Given the description of an element on the screen output the (x, y) to click on. 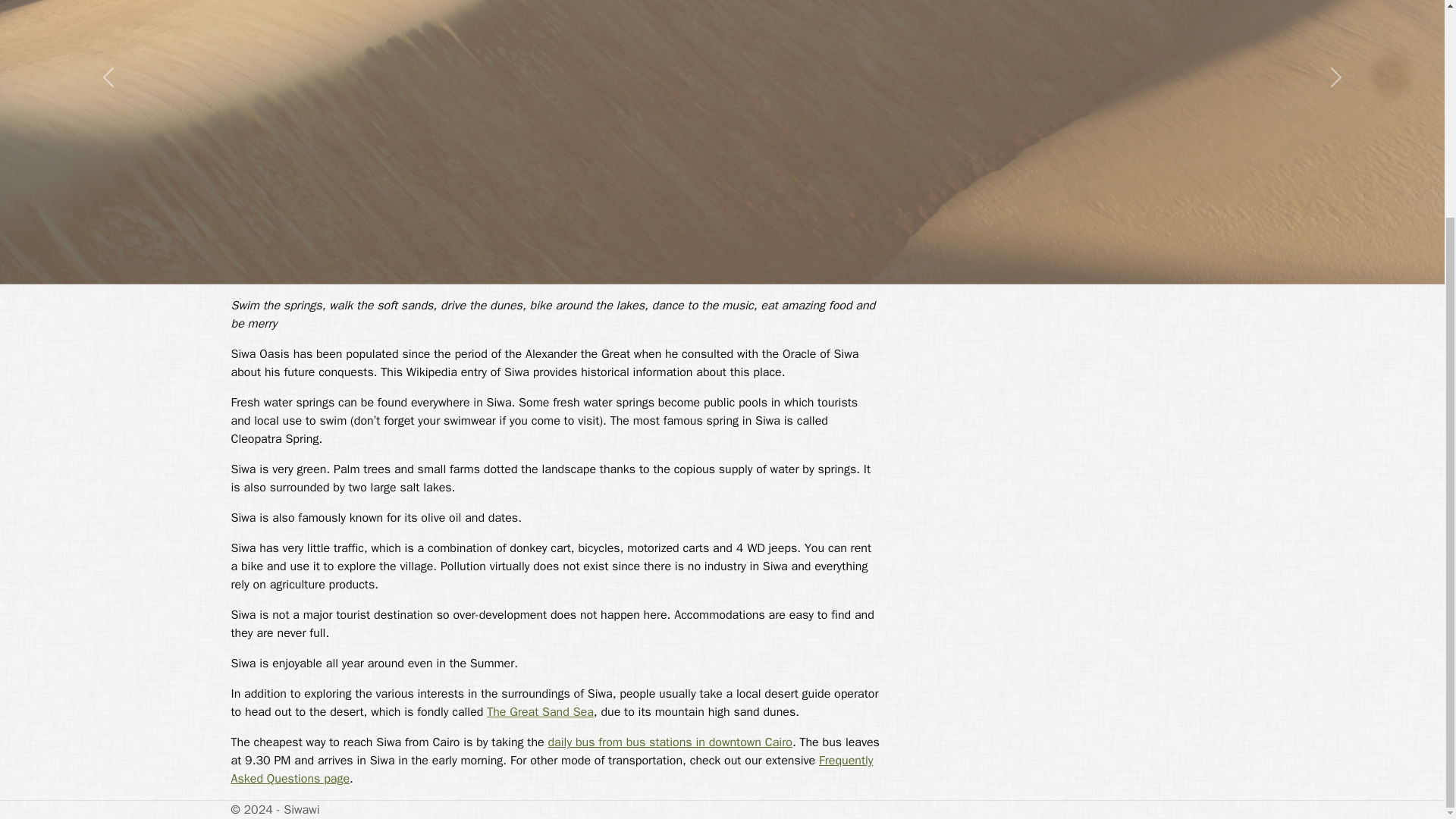
The Great Sand Sea (540, 711)
Frequently Asked Questions page (551, 769)
daily bus from bus stations in downtown Cairo (669, 742)
Previous (108, 142)
